Given the description of an element on the screen output the (x, y) to click on. 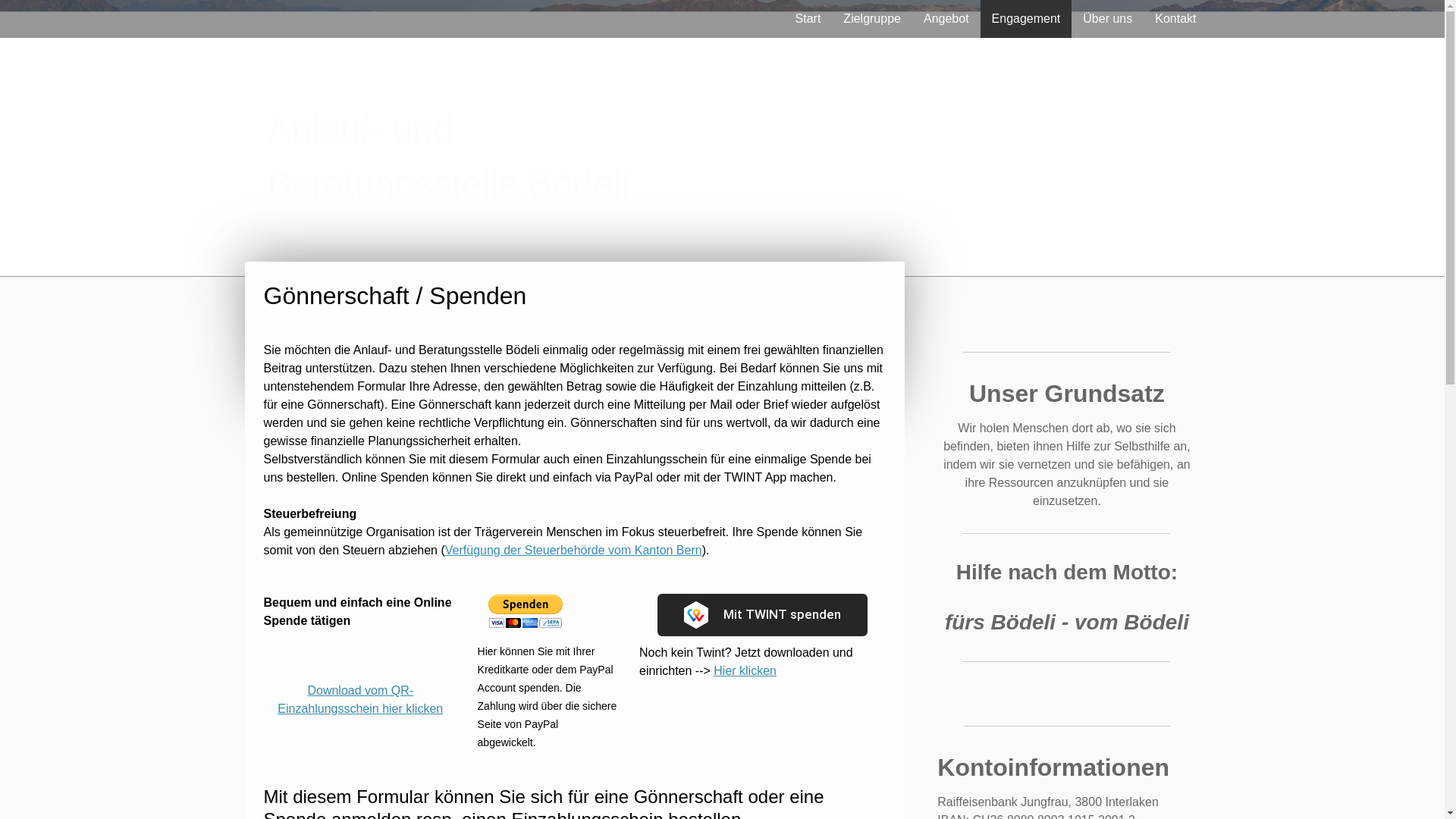
Engagement Element type: text (1026, 18)
Download vom QR-Einzahlungsschein hier klicken Element type: text (359, 699)
PayPal - The safer, easier way to pay online! Element type: hover (525, 611)
Zielgruppe Element type: text (871, 18)
Kontakt Element type: text (1175, 18)
Hier klicken Element type: text (744, 670)
Angebot Element type: text (946, 18)
Start Element type: text (808, 18)
